Given the description of an element on the screen output the (x, y) to click on. 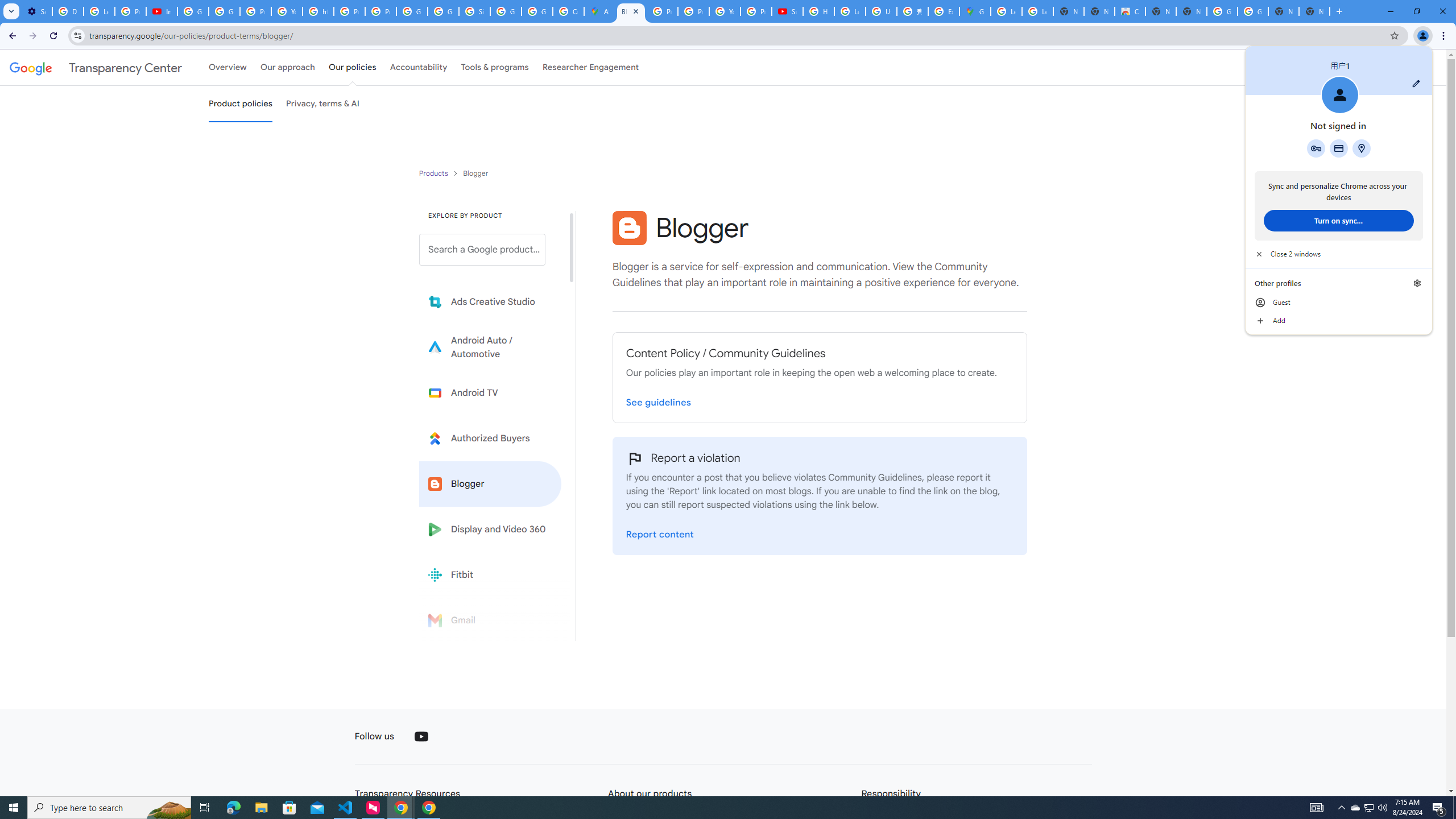
Learn more about Authorized Buyers (490, 438)
Privacy Help Center - Policies Help (1355, 807)
Learn more about Android TV (693, 11)
User Promoted Notification Area (490, 393)
Blogger (1368, 807)
Subscriptions - YouTube (490, 483)
Task View (787, 11)
